Given the description of an element on the screen output the (x, y) to click on. 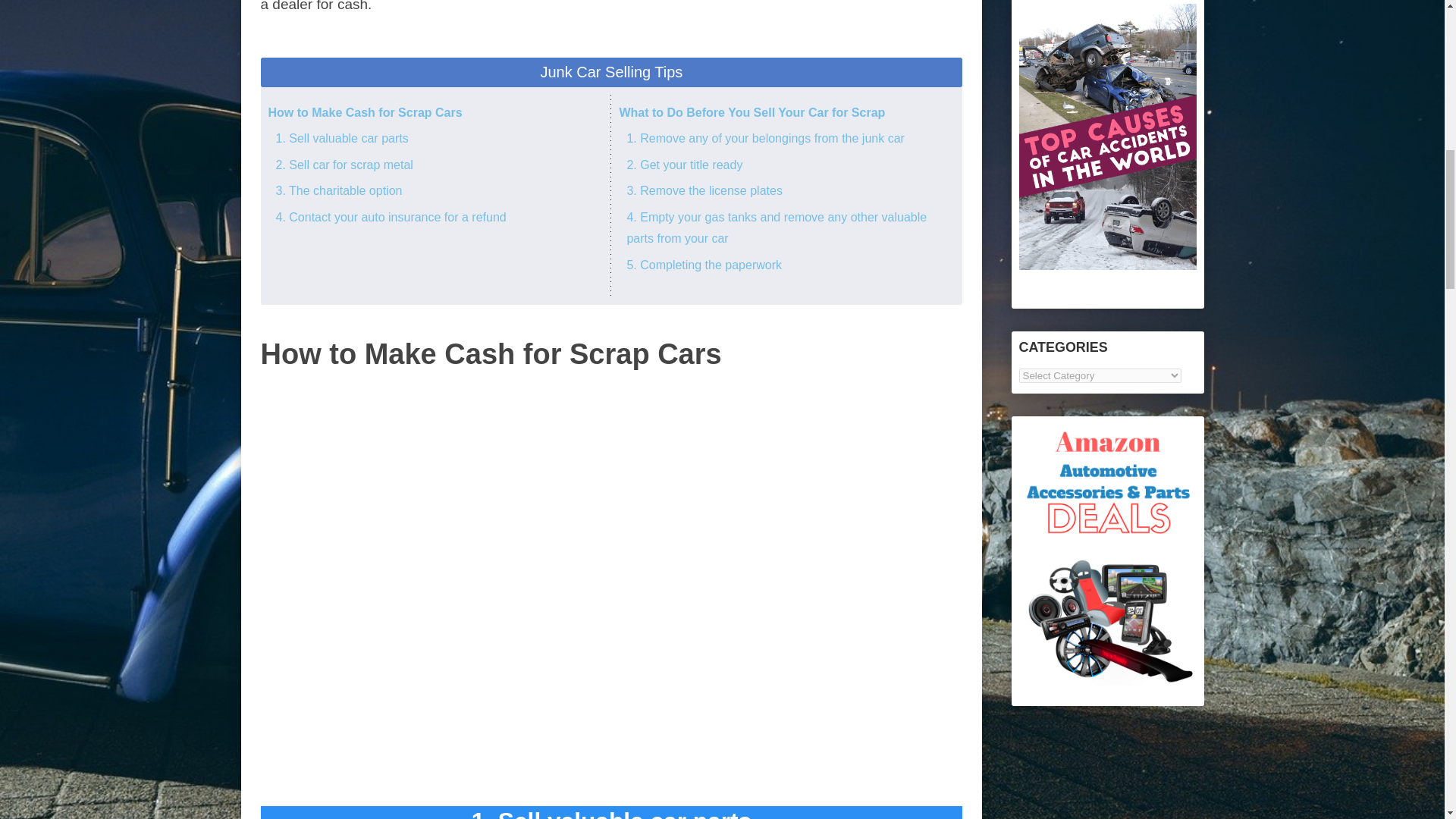
1. Remove any of your belongings from the junk car (765, 137)
1. Sell valuable car parts (342, 137)
Top Causes of Car Accidents in the World (1107, 264)
4. Contact your auto insurance for a refund (391, 216)
3. The charitable option (339, 190)
2. Sell car for scrap metal (344, 164)
5. Completing the paperwork (703, 264)
3. Remove the license plates (703, 190)
2. Get your title ready (684, 164)
